Given the description of an element on the screen output the (x, y) to click on. 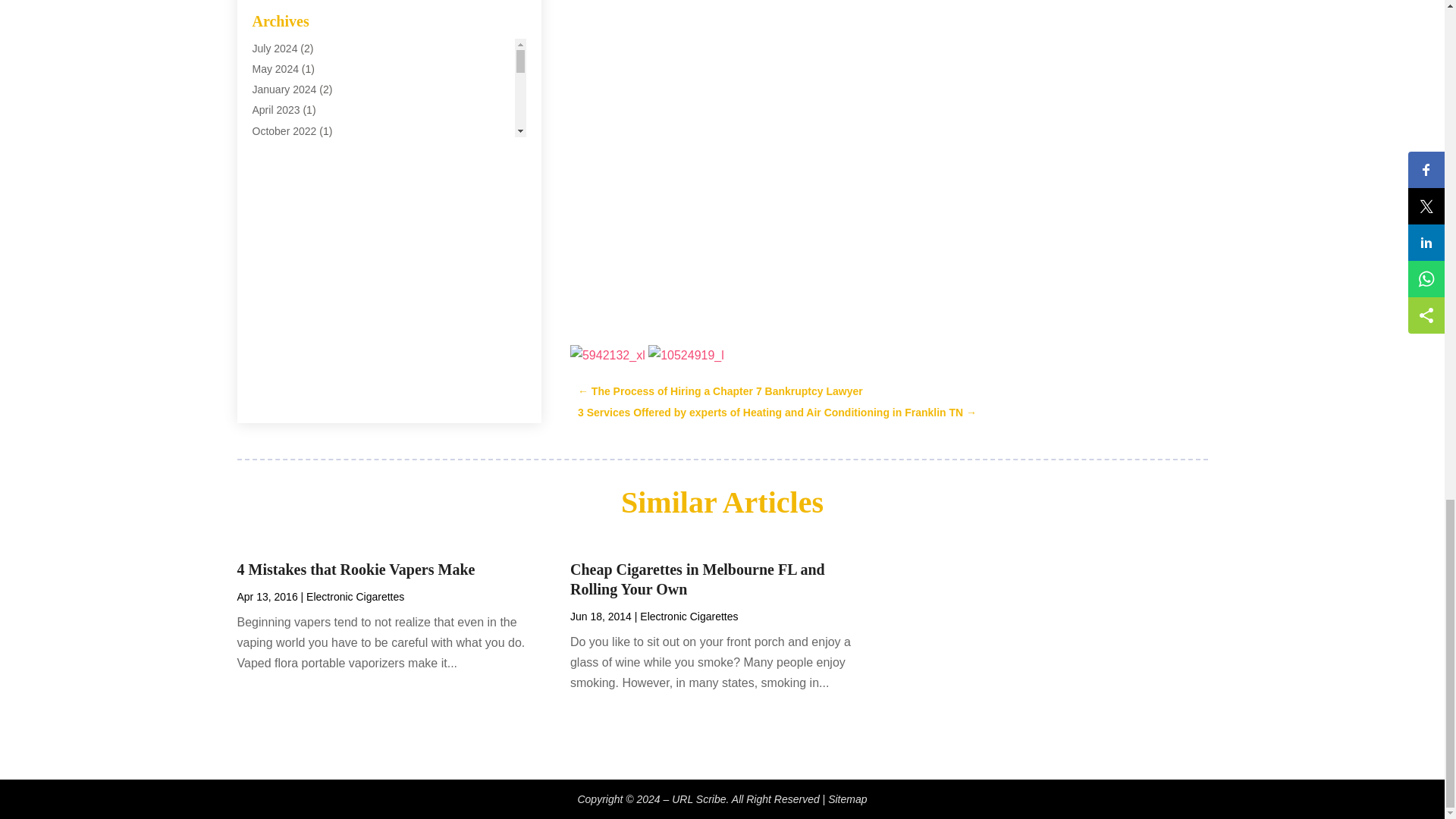
Agriculture And Forestry (308, 34)
Air Conditioning (288, 75)
Air Conditioner (286, 55)
